Given the description of an element on the screen output the (x, y) to click on. 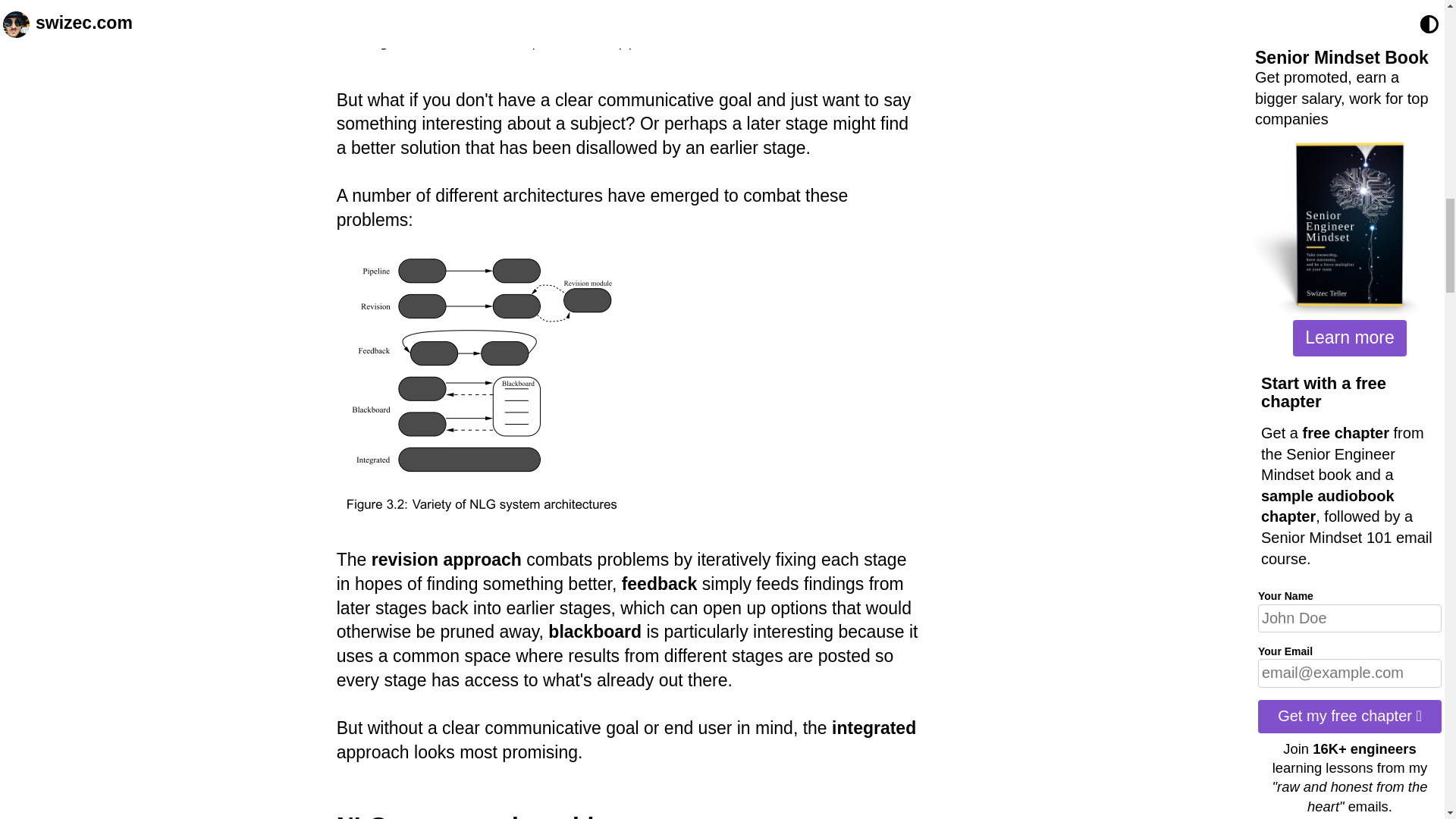
NLG architectures (481, 387)
Three reiter pipeline architecture (551, 28)
NLG as a search problem (482, 815)
